Given the description of an element on the screen output the (x, y) to click on. 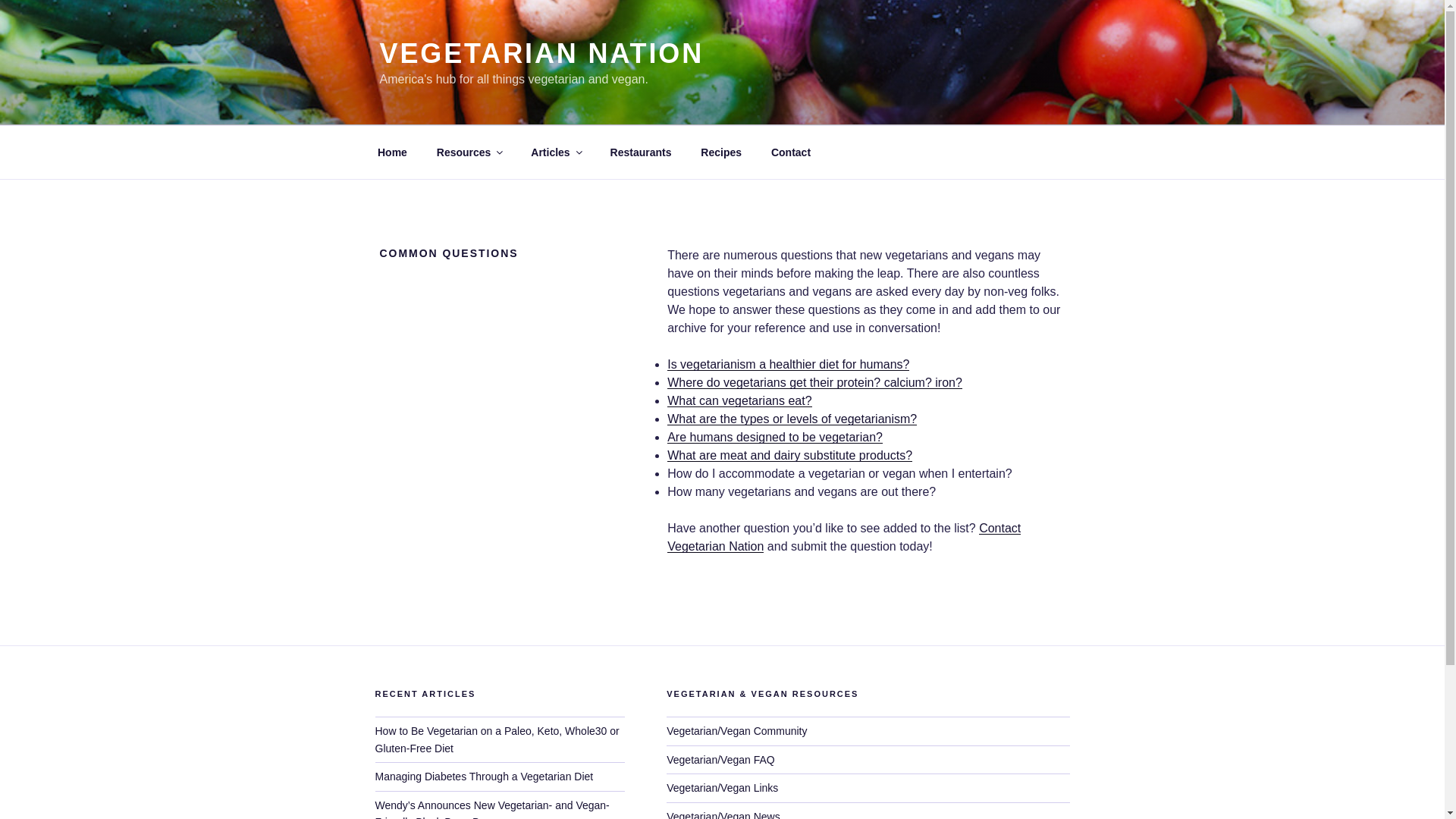
Contact Vegetarian (790, 151)
Where do vegetarians get their protein? calcium? iron? (814, 382)
Home (392, 151)
VEGETARIAN NATION (540, 52)
Articles (556, 151)
What are meat and dairy substitute products? (789, 454)
Contact Vegetarian Nation (843, 536)
Restaurants (640, 151)
Are humans designed to be vegetarian? (774, 436)
Vegetarian Nation (392, 151)
